Given the description of an element on the screen output the (x, y) to click on. 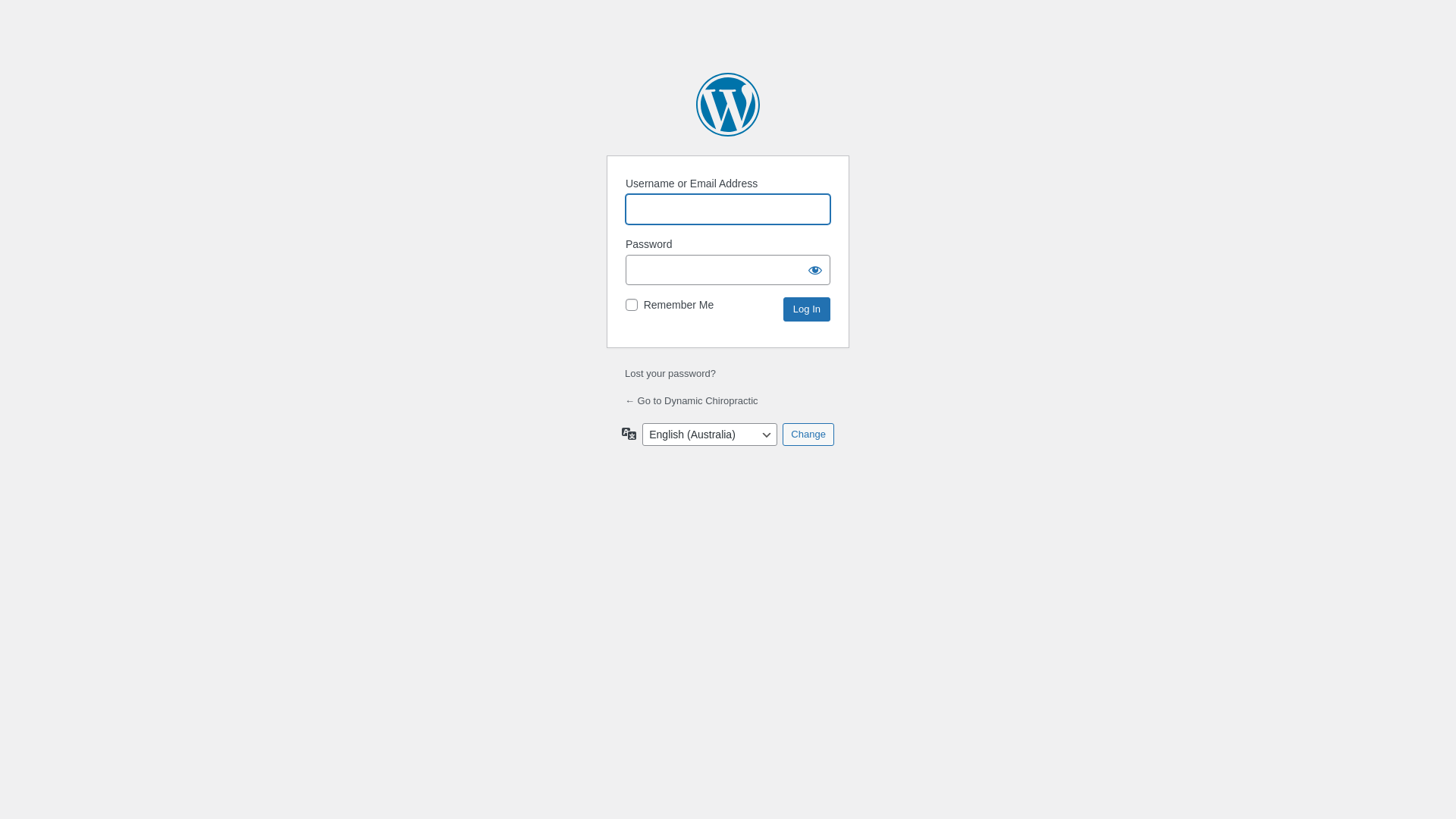
Log In Element type: text (806, 309)
Lost your password? Element type: text (669, 373)
Change Element type: text (808, 434)
Powered by WordPress Element type: text (727, 104)
